Given the description of an element on the screen output the (x, y) to click on. 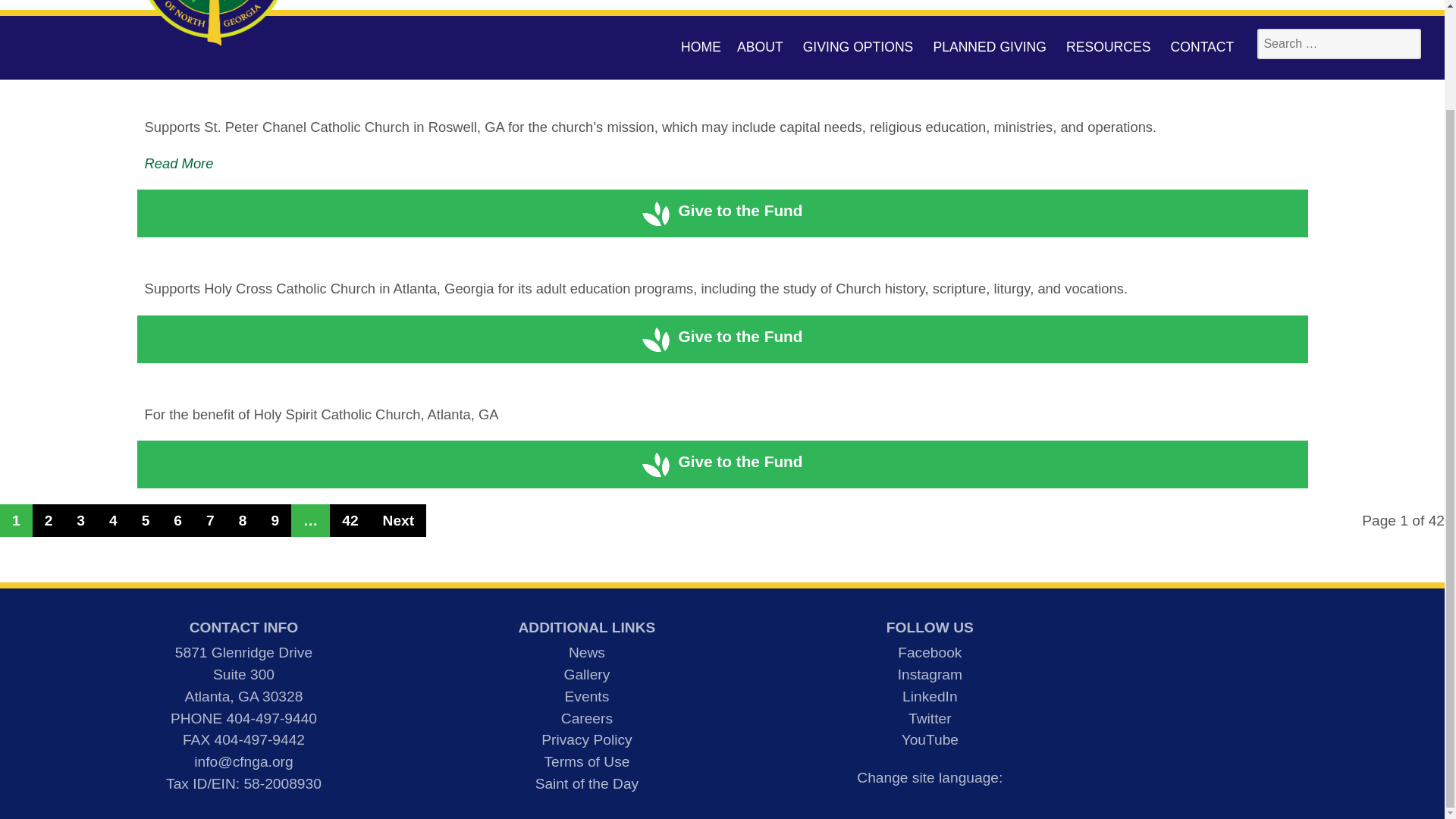
PLANNED GIVING (991, 47)
RESOURCES (1109, 47)
HOME (700, 47)
Give to the Fund (722, 210)
GIVING OPTIONS (860, 47)
ABOUT (761, 47)
Read More (178, 163)
CONTACT (1202, 47)
Give to the Fund (722, 335)
